Given the description of an element on the screen output the (x, y) to click on. 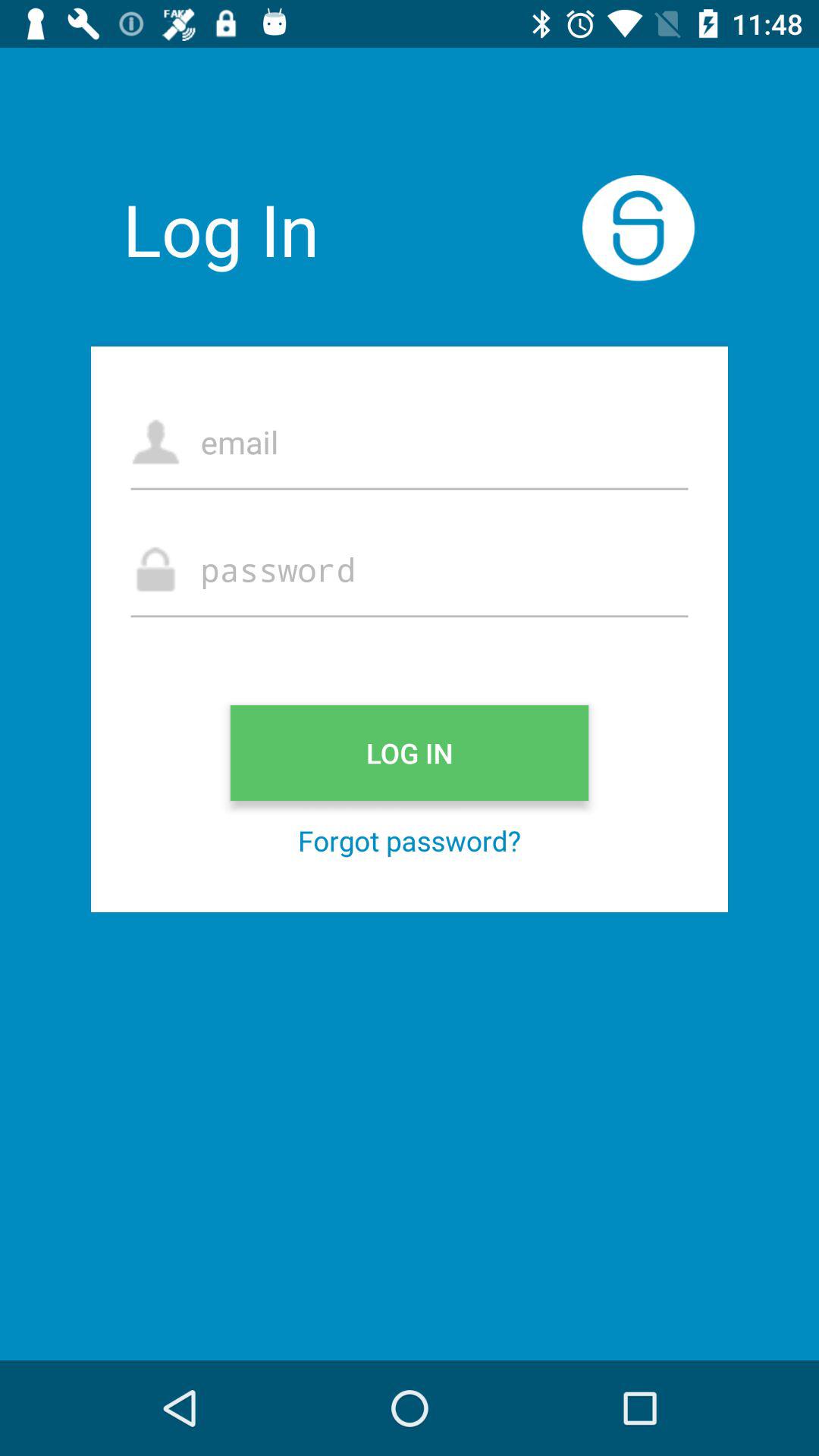
log in with email address (409, 441)
